Given the description of an element on the screen output the (x, y) to click on. 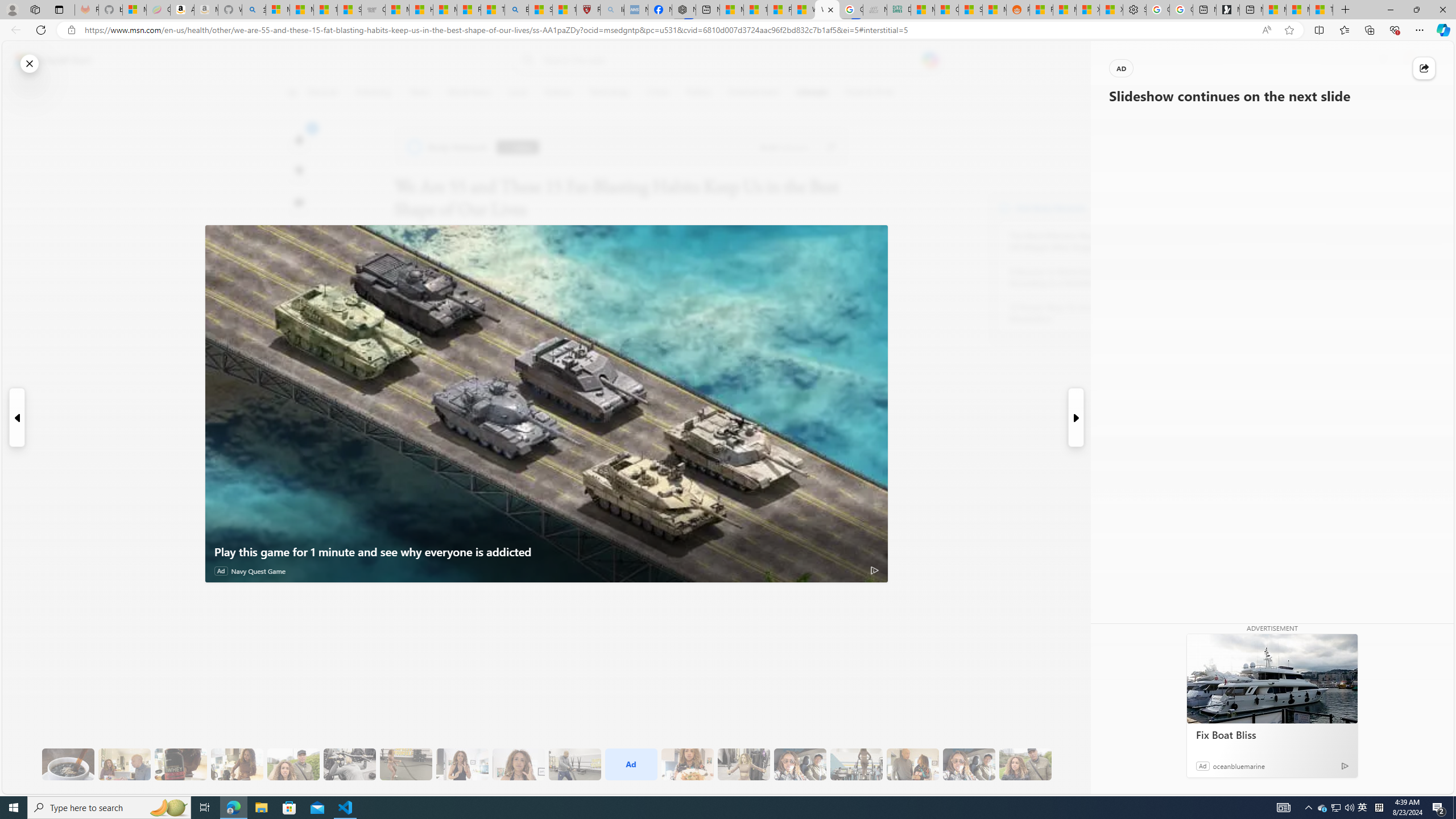
Share this story (1423, 67)
9 They Do Bench Exercises (349, 764)
oceanbluemarine (1238, 765)
